Given the description of an element on the screen output the (x, y) to click on. 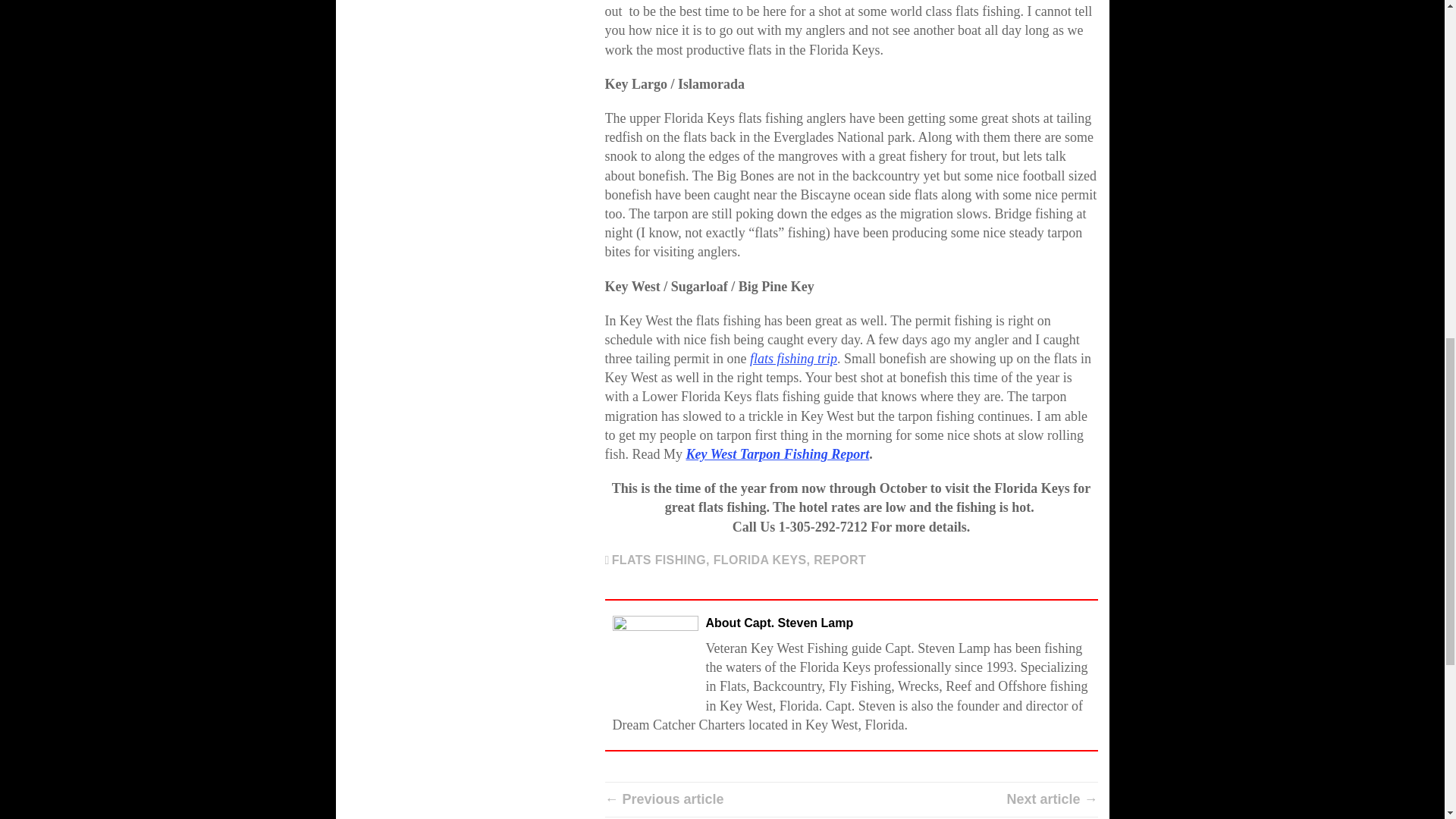
FLORIDA KEYS (759, 559)
FLATS FISHING (658, 559)
flats fishing trip (793, 358)
Key West Tarpon Fishing Report (777, 453)
REPORT (839, 559)
